Given the description of an element on the screen output the (x, y) to click on. 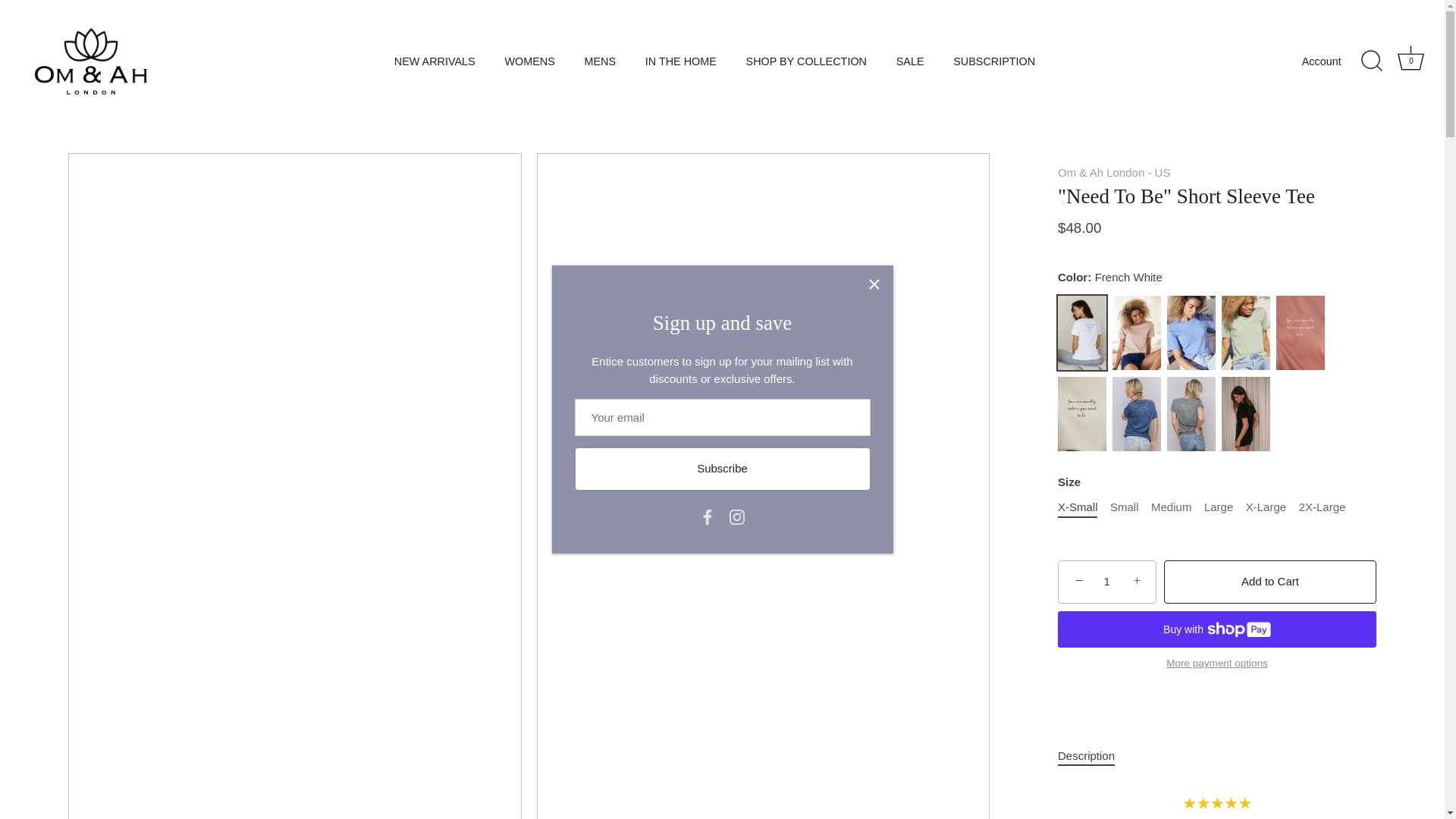
WOMENS (529, 61)
IN THE HOME (680, 61)
NEW ARRIVALS (434, 61)
Account (1334, 61)
SHOP BY COLLECTION (805, 61)
SUBSCRIPTION (994, 61)
SALE (909, 61)
MENS (1411, 61)
Instagram (599, 61)
1 (736, 516)
Cart (1106, 581)
